Given the description of an element on the screen output the (x, y) to click on. 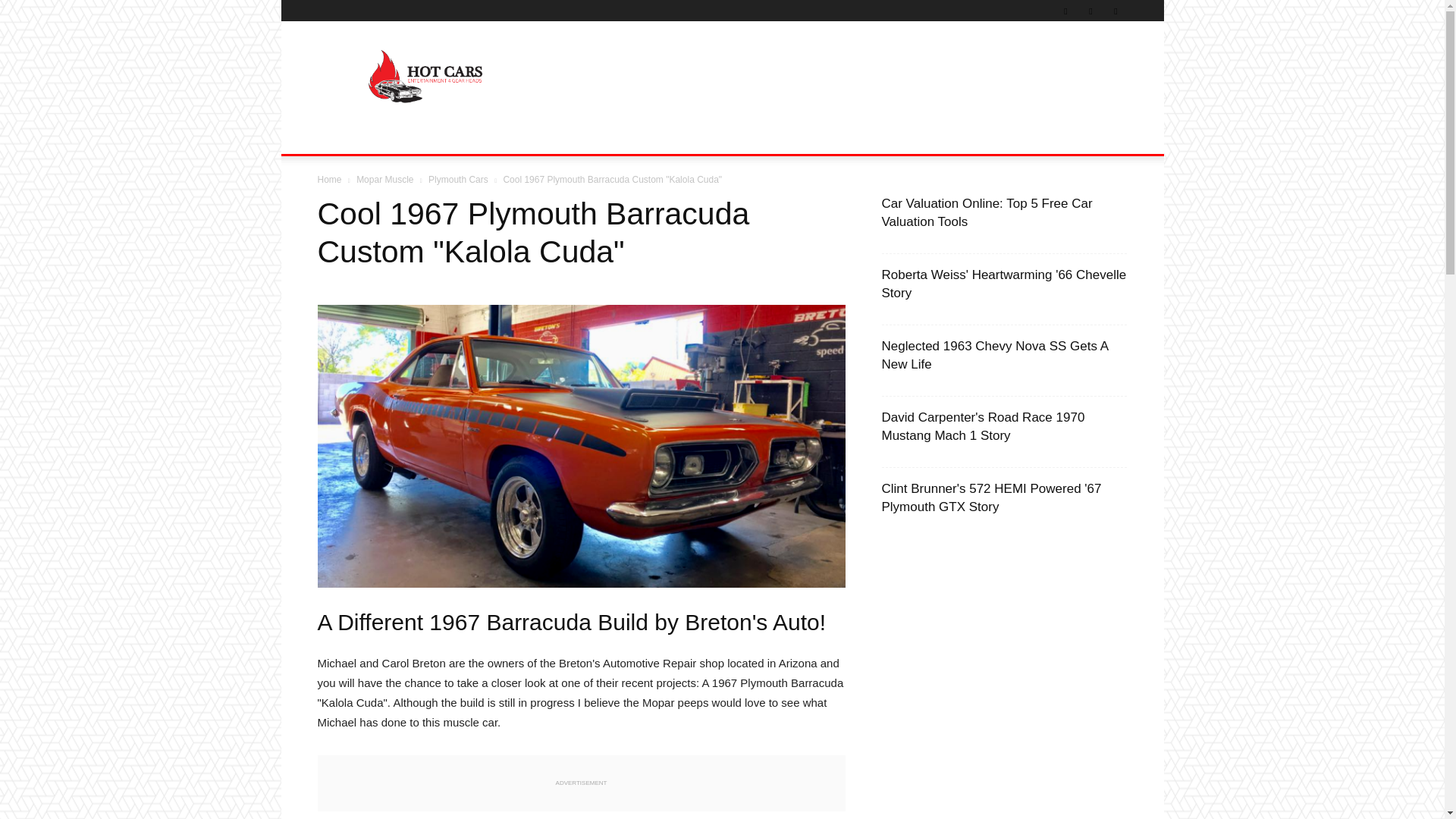
CLASSIC CARS (419, 135)
Pinterest (1065, 10)
HOME (343, 135)
Twitter (1090, 10)
Youtube (1114, 10)
